Given the description of an element on the screen output the (x, y) to click on. 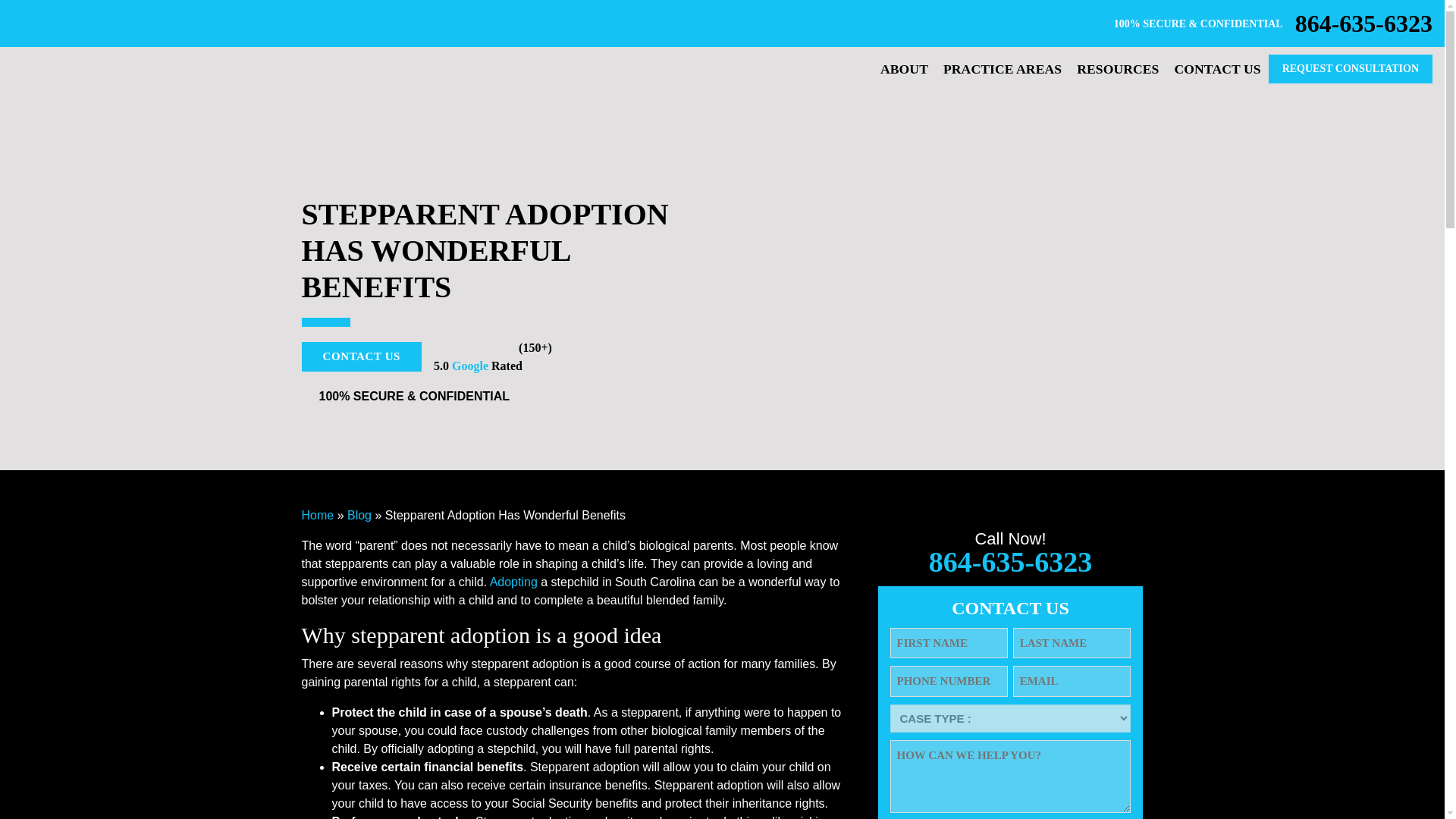
homepage (97, 84)
